Given the description of an element on the screen output the (x, y) to click on. 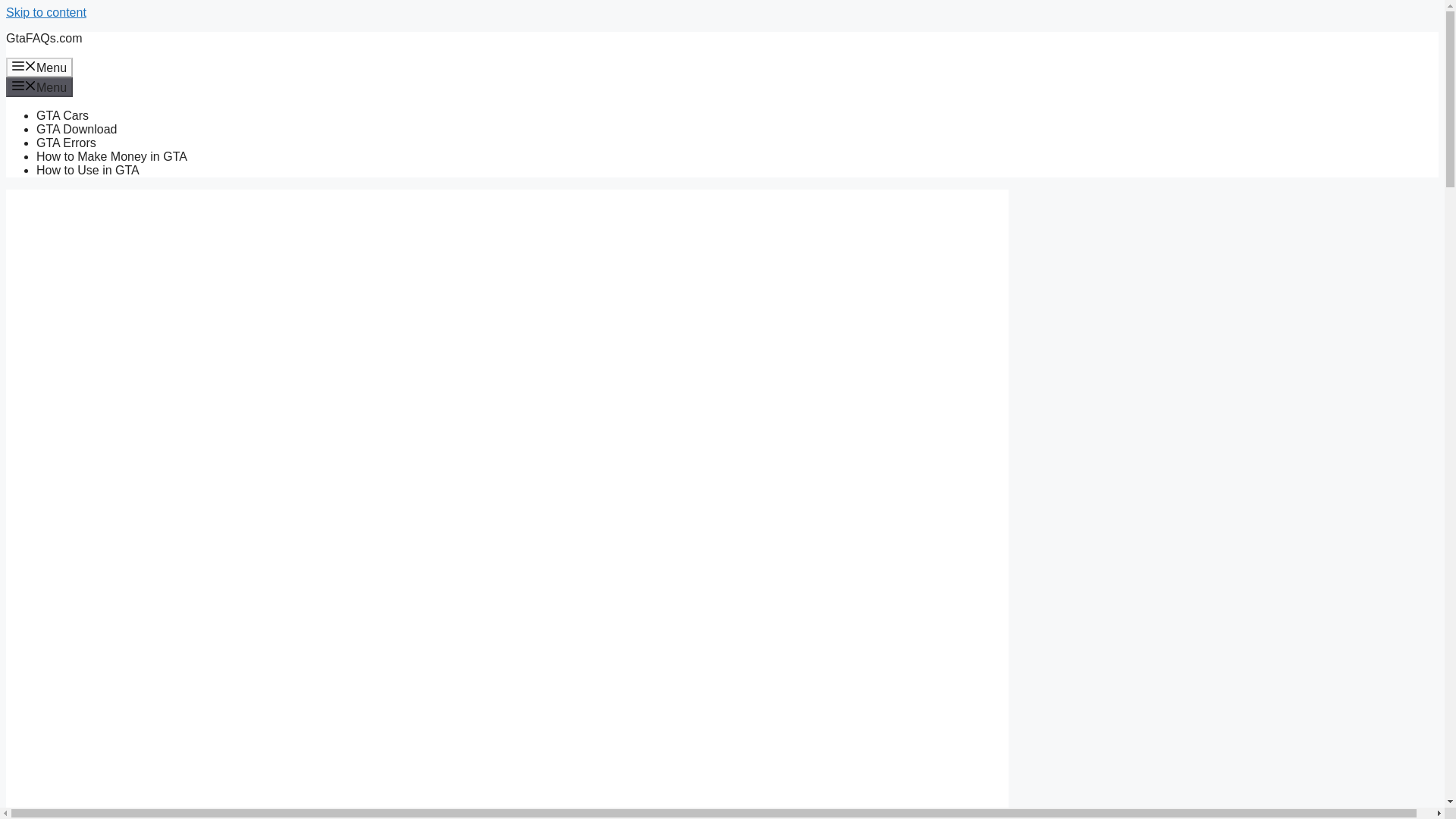
GTA Download (76, 128)
Skip to content (45, 11)
Menu (38, 66)
GTA Errors (66, 142)
GtaFAQs.com (43, 38)
How to Use in GTA (87, 169)
How to Make Money in GTA (111, 155)
GTA Cars (62, 115)
Skip to content (45, 11)
Menu (38, 86)
